Given the description of an element on the screen output the (x, y) to click on. 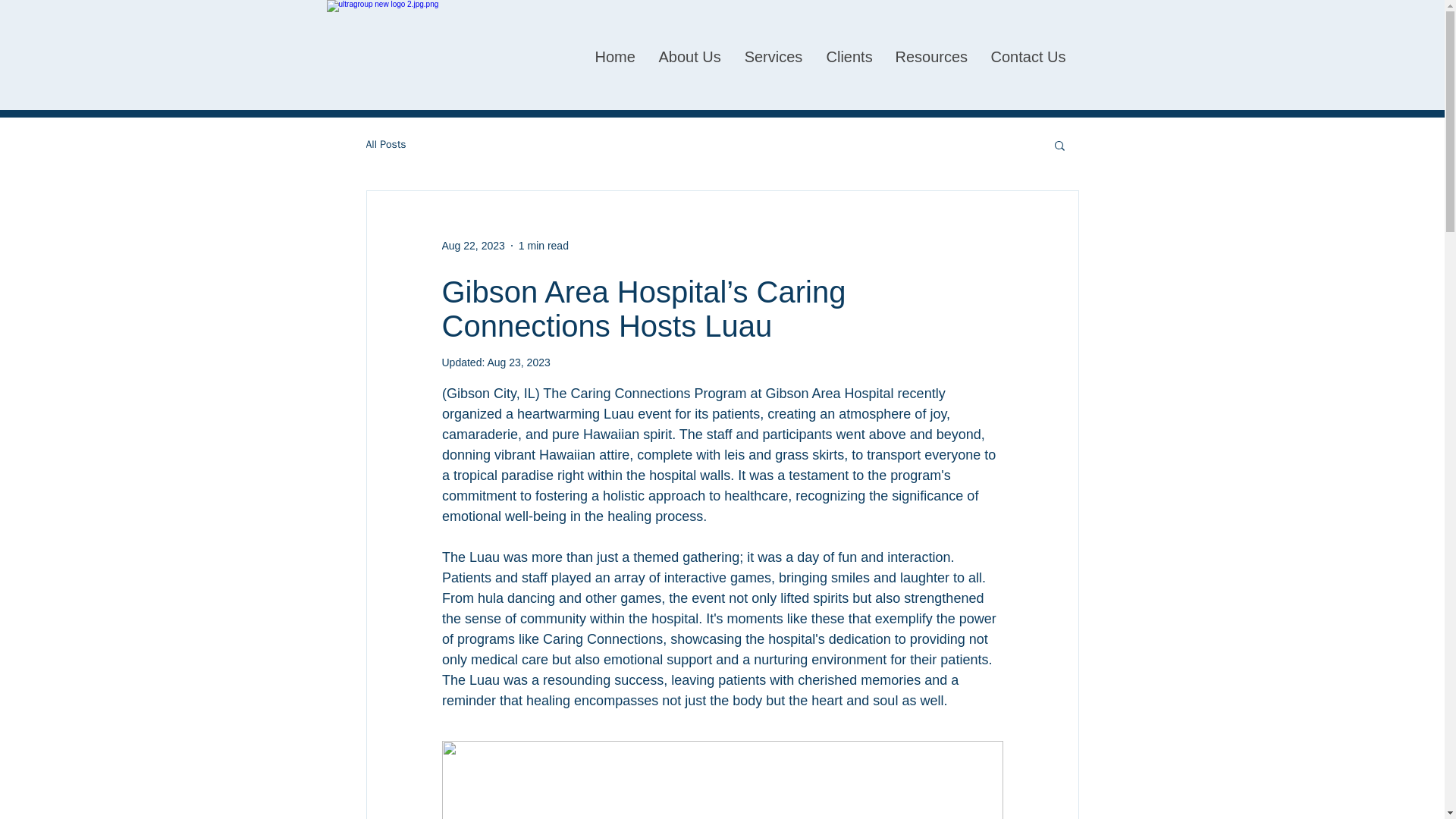
Home (614, 56)
Aug 22, 2023 (472, 245)
Services (772, 56)
About Us (689, 56)
Aug 23, 2023 (518, 362)
1 min read (543, 245)
Contact Us (1027, 56)
Resources (930, 56)
All Posts (385, 144)
Clients (848, 56)
